Given the description of an element on the screen output the (x, y) to click on. 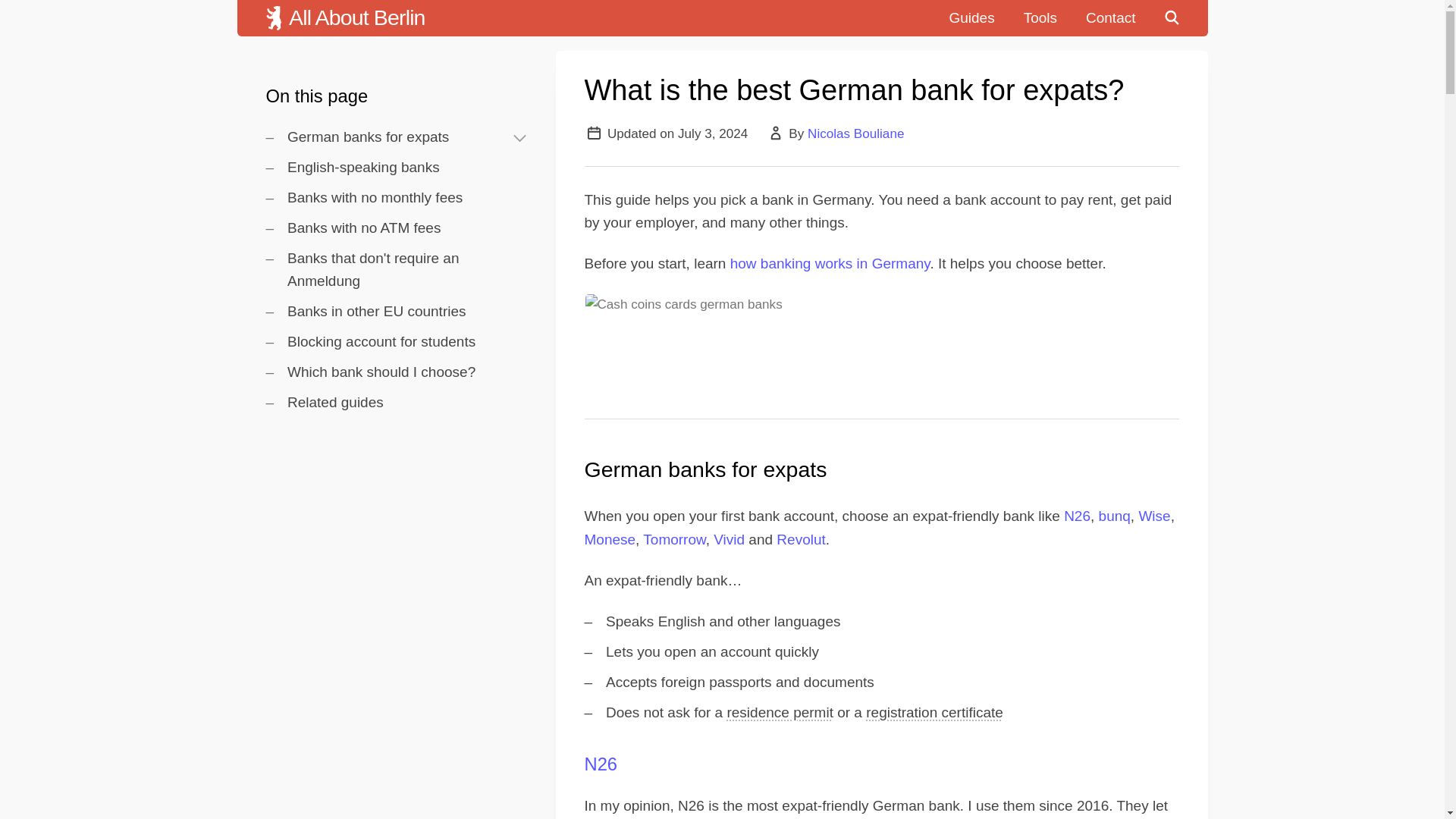
registration certificate (934, 712)
N26 (600, 763)
Search this website (1185, 18)
Revolut (800, 539)
All About Berlin (345, 18)
Nicolas Bouliane (856, 133)
N26 (1077, 515)
All About Berlin (345, 18)
residence permit (779, 712)
Guides (971, 18)
Tomorrow (673, 539)
Wise (1154, 515)
Vivid (728, 539)
Monese (608, 539)
Contact (1110, 18)
